Given the description of an element on the screen output the (x, y) to click on. 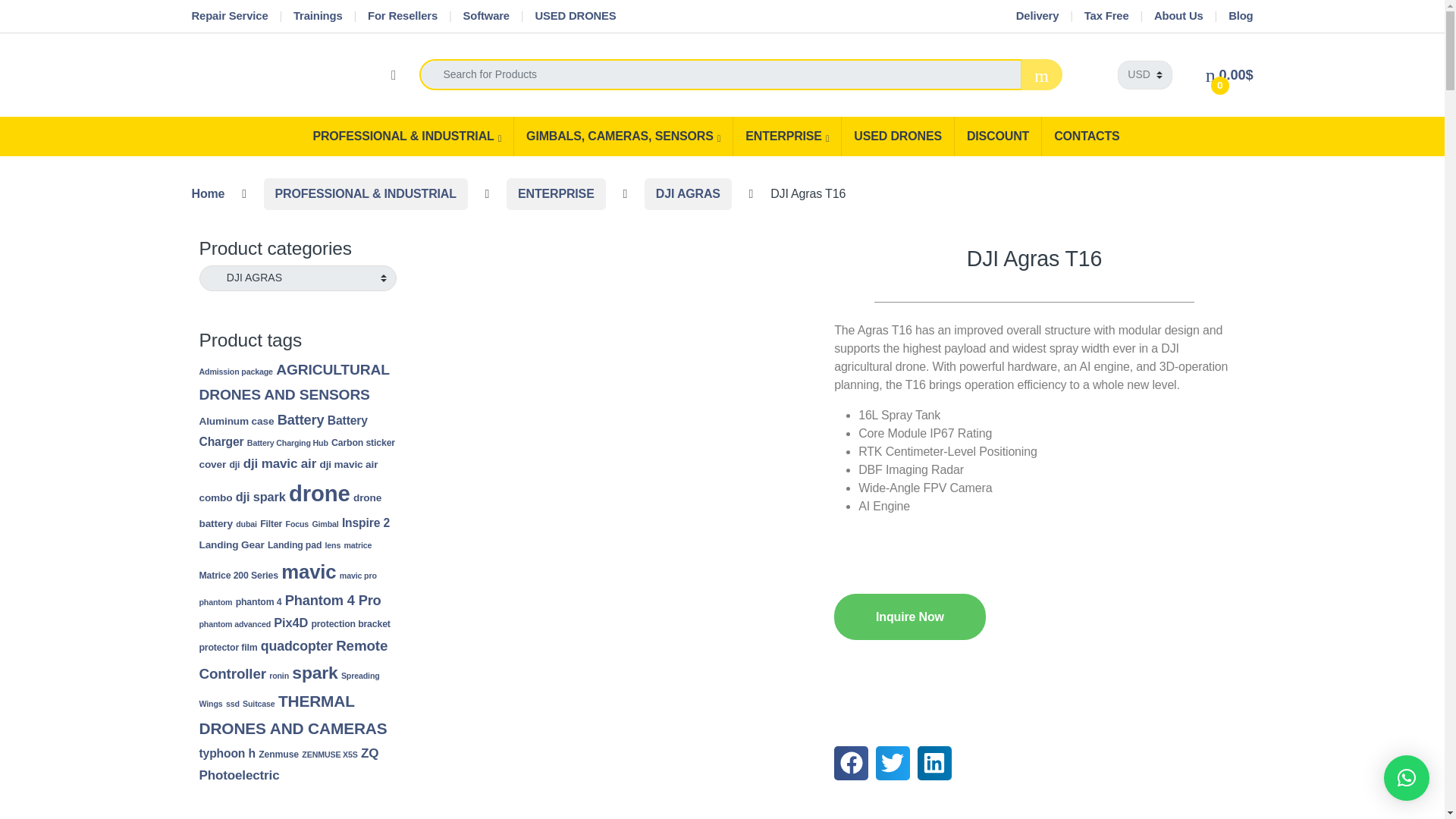
Delivery (1037, 16)
Tax Free (1106, 16)
About Us (1179, 16)
Software (485, 16)
For Resellers (403, 16)
About Us (1179, 16)
For Resellers (403, 16)
USED DRONES (574, 16)
Delivery (1037, 16)
Repair Service (228, 16)
